Given the description of an element on the screen output the (x, y) to click on. 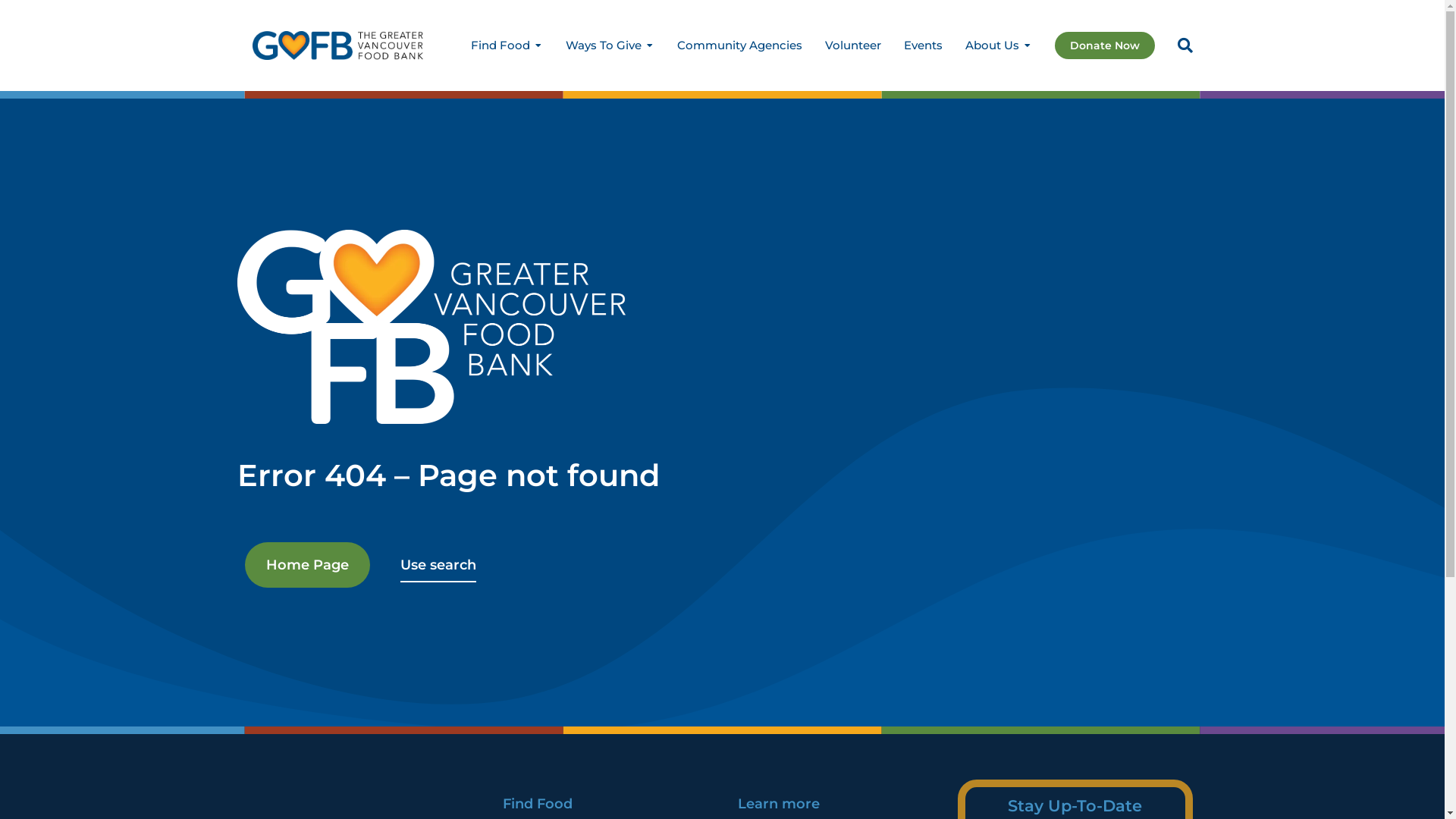
Events Element type: text (922, 45)
About Us Element type: text (997, 45)
Volunteer Element type: text (853, 45)
Use search Element type: text (438, 564)
Donate Now Element type: text (1104, 45)
Home Page Element type: text (306, 564)
Community Agencies Element type: text (738, 45)
Find Food Element type: text (506, 45)
Ways To Give Element type: text (609, 45)
